Given the description of an element on the screen output the (x, y) to click on. 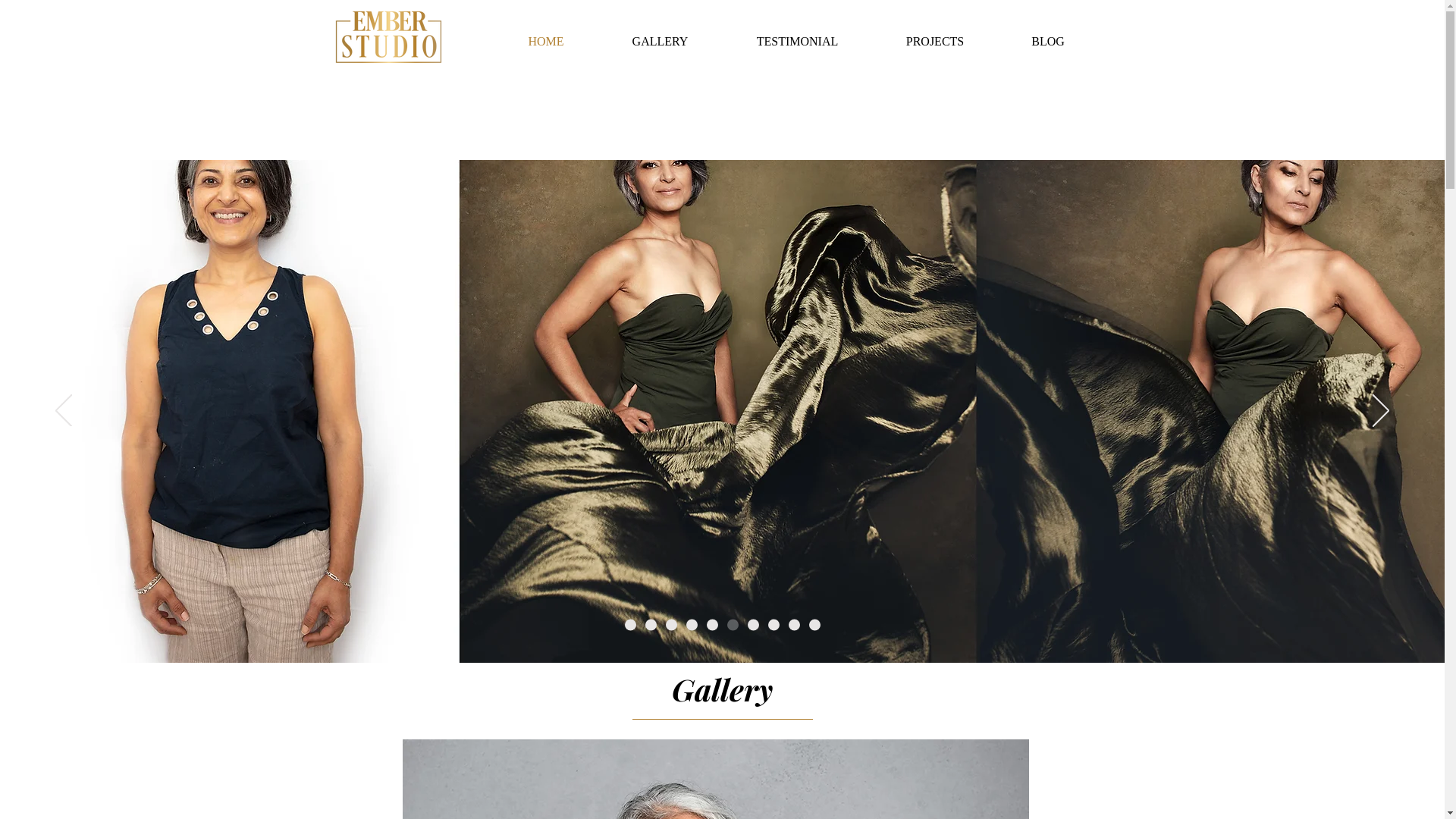
BLOG Element type: text (1047, 41)
HOME Element type: text (546, 41)
TESTIMONIAL Element type: text (796, 41)
PROJECTS Element type: text (934, 41)
